Given the description of an element on the screen output the (x, y) to click on. 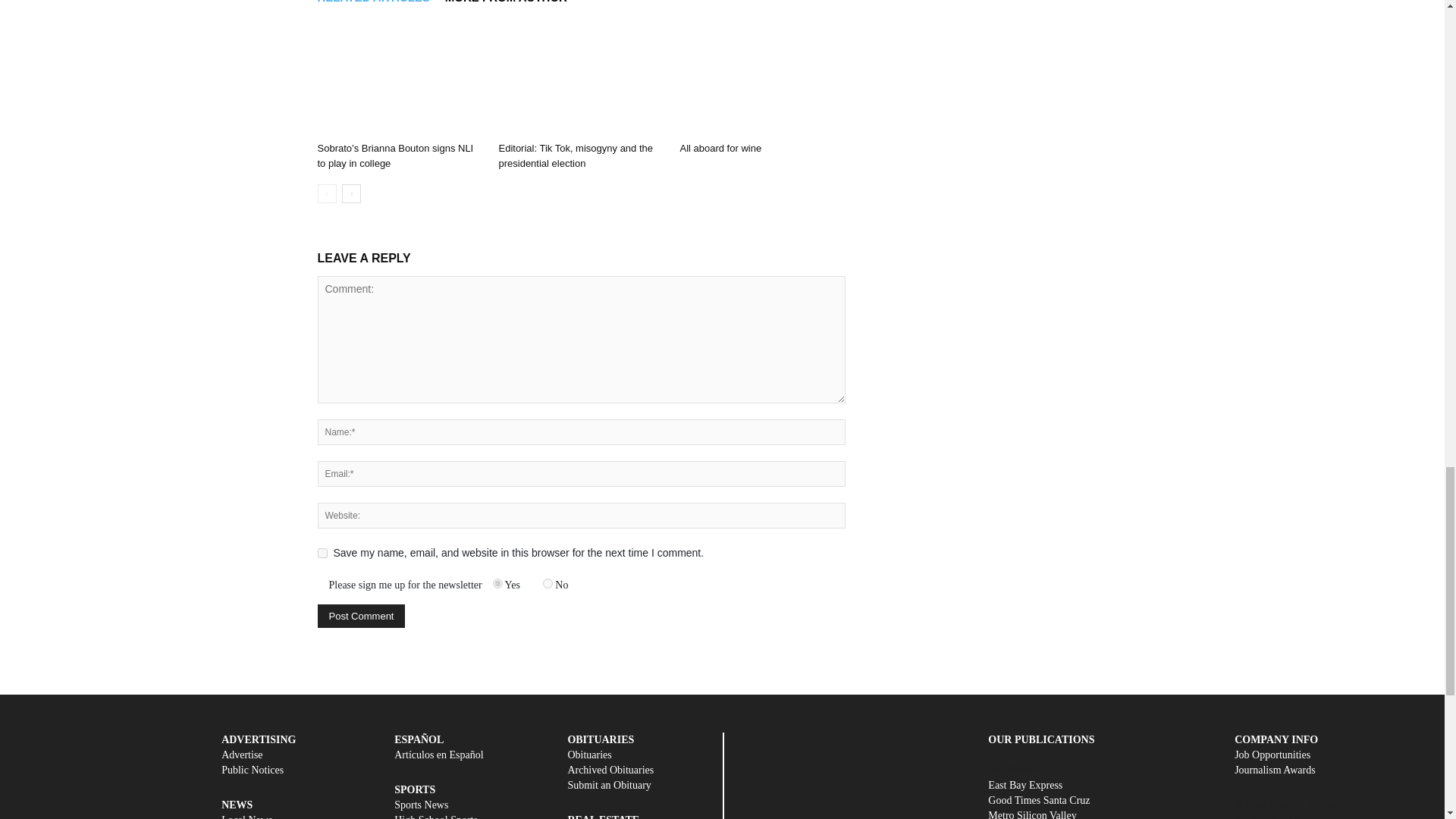
Post Comment (360, 616)
Yes (497, 583)
yes (321, 552)
No (548, 583)
